Given the description of an element on the screen output the (x, y) to click on. 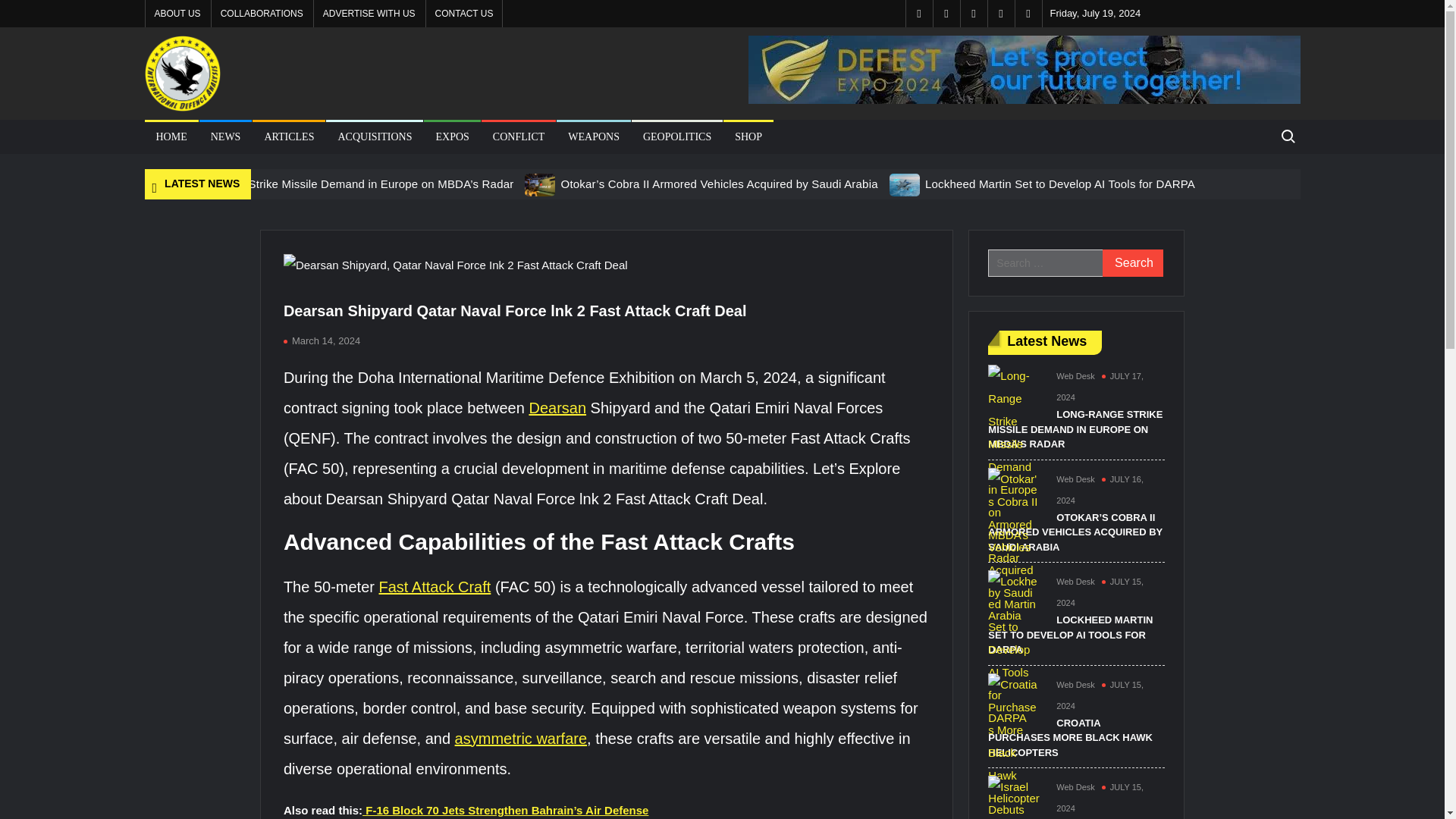
ACQUISITIONS (374, 136)
COLLABORATIONS (262, 13)
Search (1132, 262)
Search for: (1287, 136)
ARTICLES (287, 136)
CONFLICT (518, 136)
EXPOS (451, 136)
NEWS (225, 136)
HOME (171, 136)
SHOP (748, 136)
Lockheed Martin Set to Develop AI Tools for DARPA (1059, 183)
WEAPONS (593, 136)
International Defence Analysis (314, 130)
Lockheed Martin Set to Develop AI Tools for DARPA (905, 183)
ADVERTISE WITH US (369, 13)
